Given the description of an element on the screen output the (x, y) to click on. 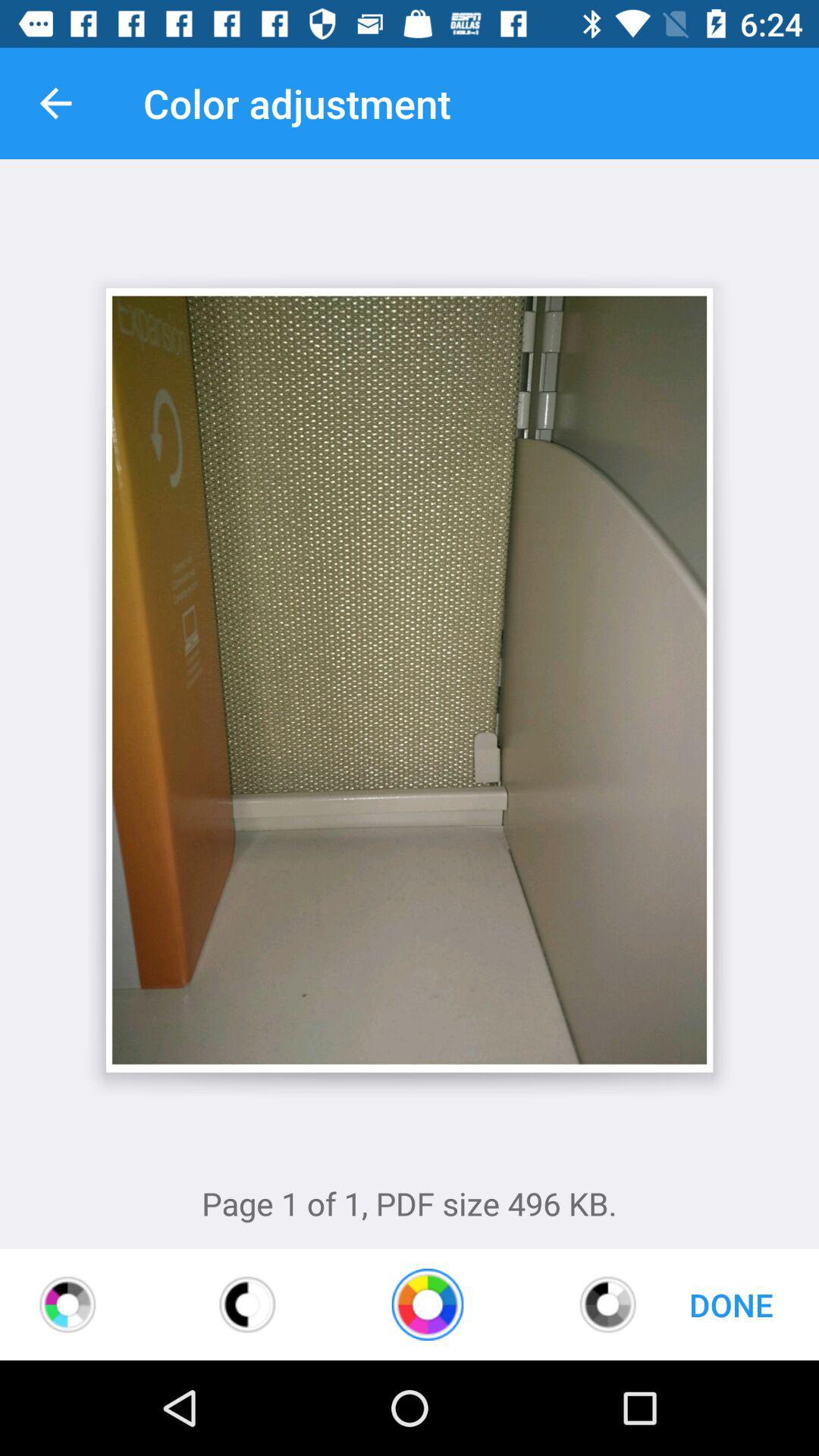
choose the icon below the page 1 of item (607, 1304)
